Given the description of an element on the screen output the (x, y) to click on. 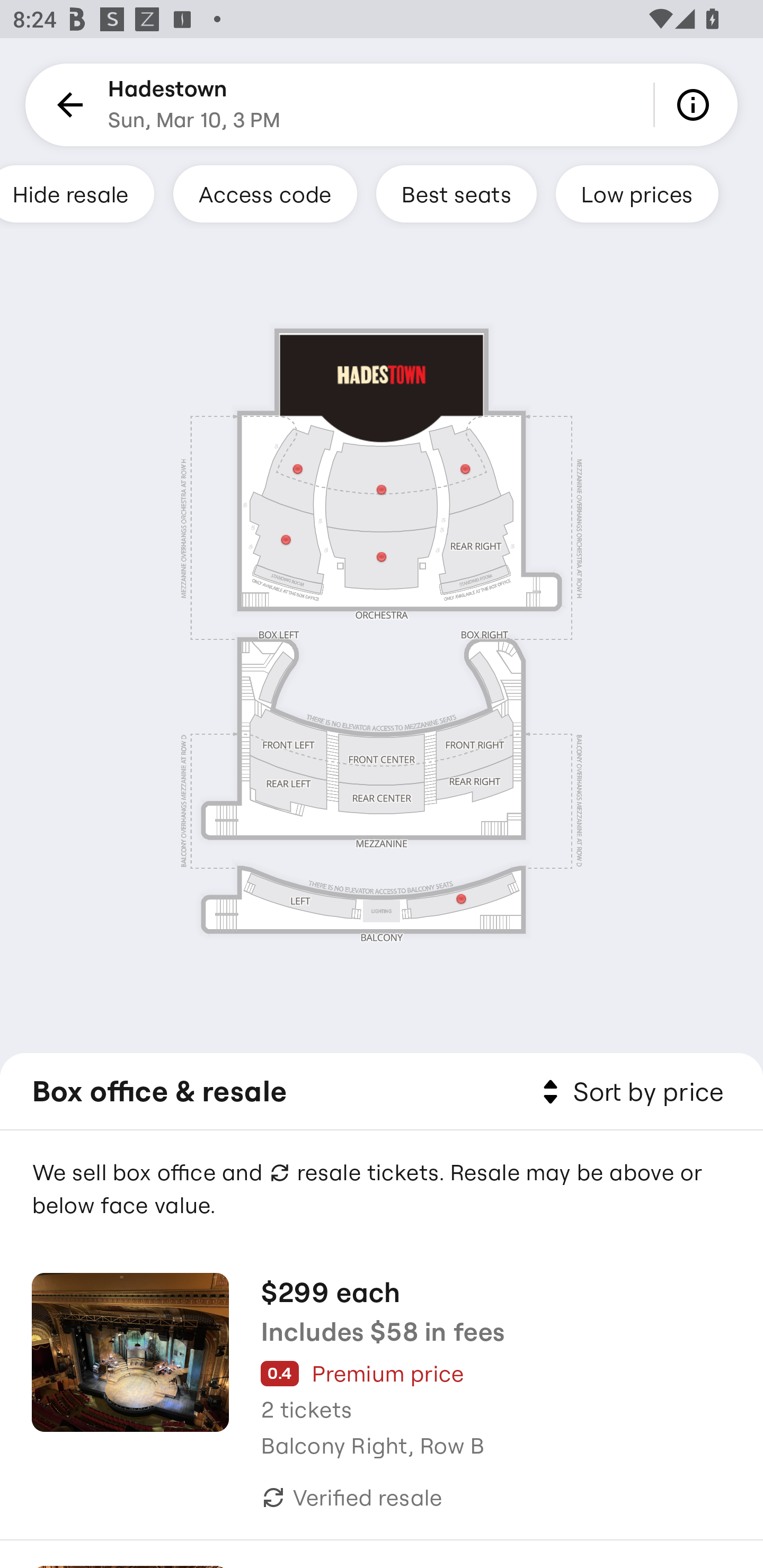
Back (66, 104)
Hadestown Sun, Mar 10, 3 PM (194, 104)
Info (695, 104)
Hide resale (77, 193)
Access code (265, 193)
Best seats (456, 193)
Low prices (636, 193)
Sort by price (629, 1091)
